Given the description of an element on the screen output the (x, y) to click on. 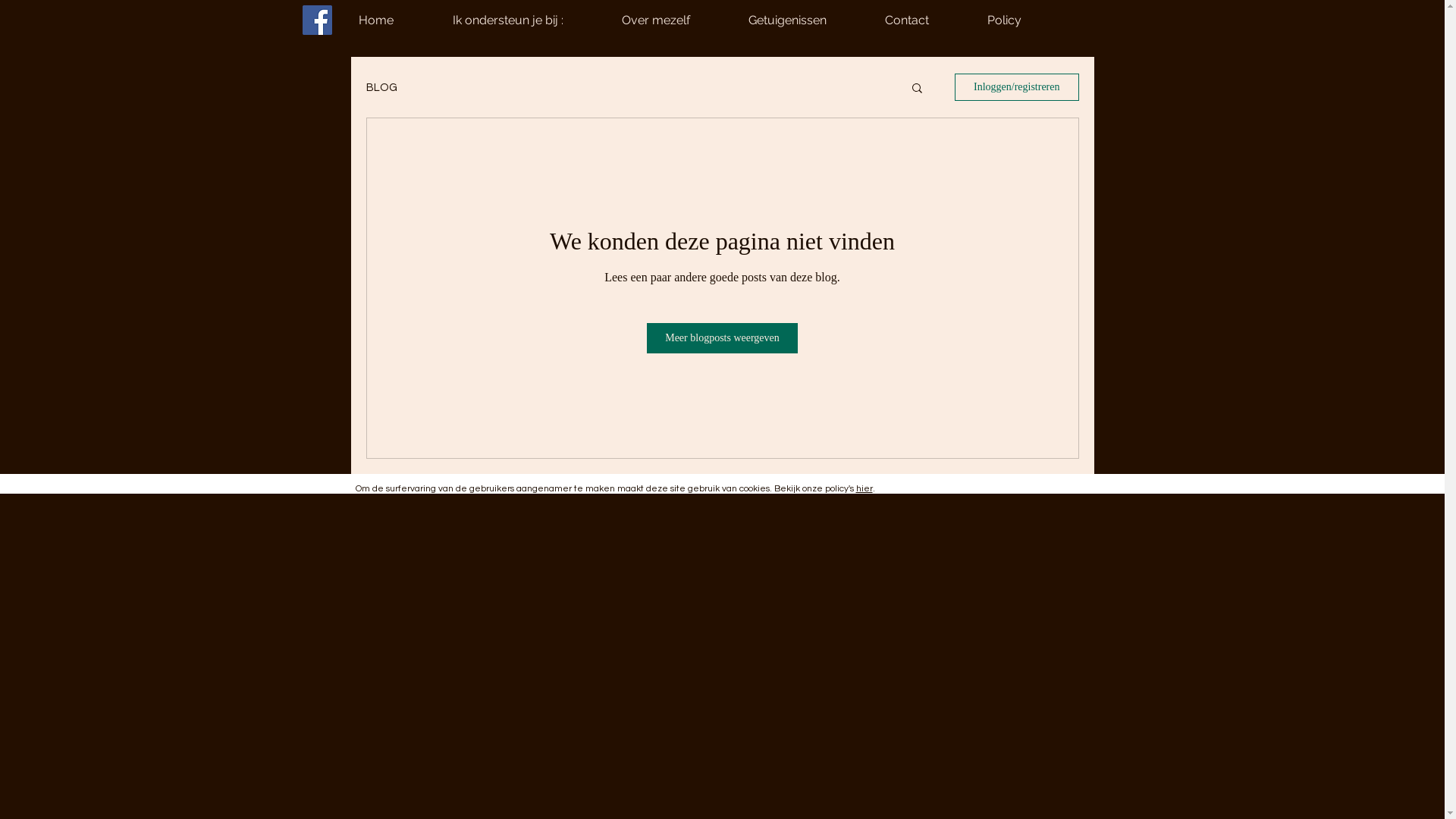
Over mezelf Element type: text (677, 19)
Policy Element type: text (1025, 19)
hier Element type: text (863, 488)
Inloggen/registreren Element type: text (1016, 86)
Ik ondersteun je bij : Element type: text (528, 19)
Getuigenissen Element type: text (808, 19)
Meer blogposts weergeven Element type: text (721, 338)
Contact Element type: text (927, 19)
BLOG Element type: text (380, 87)
Home Element type: text (397, 19)
